Given the description of an element on the screen output the (x, y) to click on. 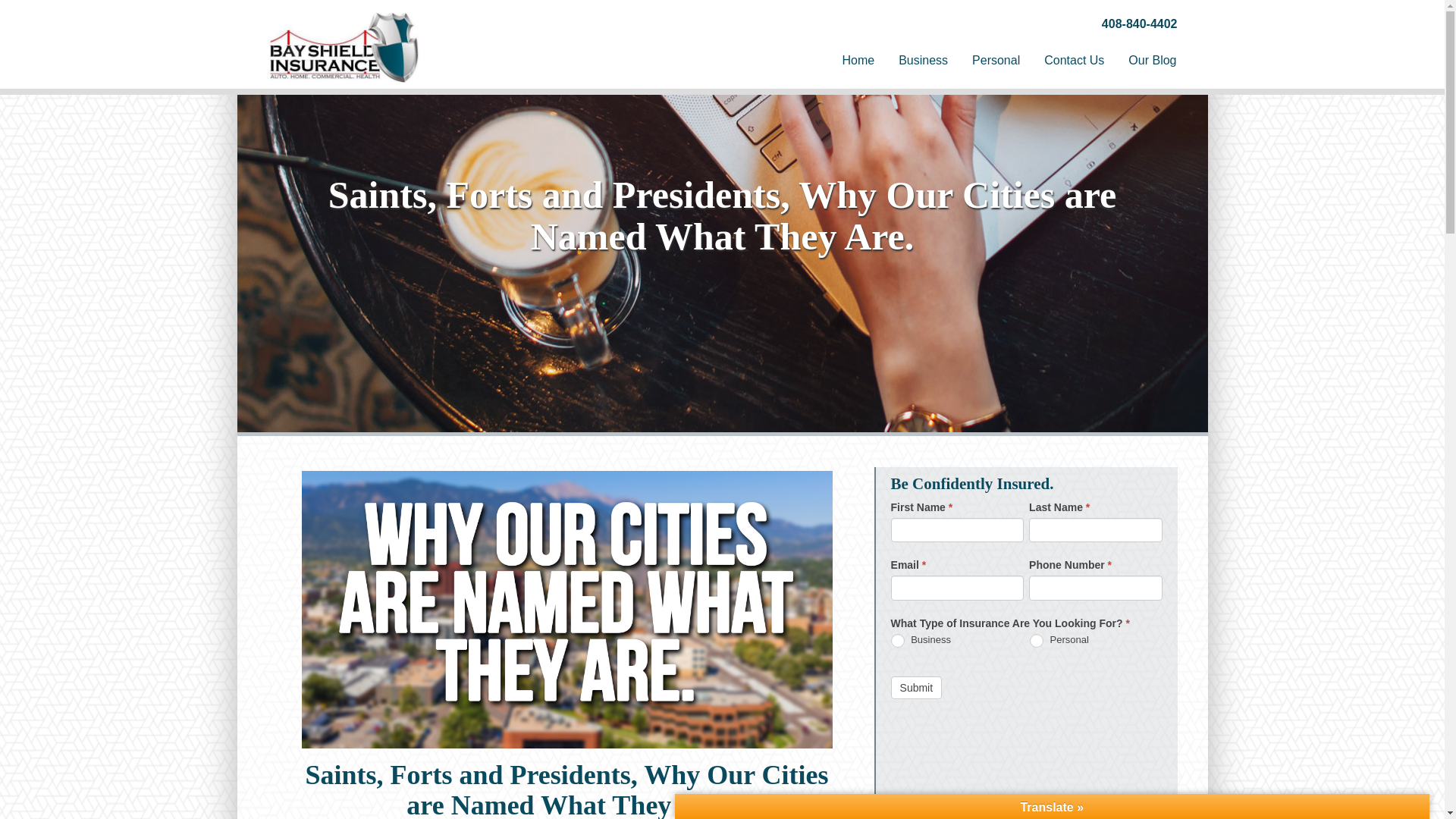
Business (922, 60)
Contact Us (1074, 60)
Home (857, 60)
Personal (995, 60)
Our Blog (1152, 60)
Business (897, 640)
Submit (916, 687)
Personal (1036, 640)
408-840-4402 (1139, 23)
